Given the description of an element on the screen output the (x, y) to click on. 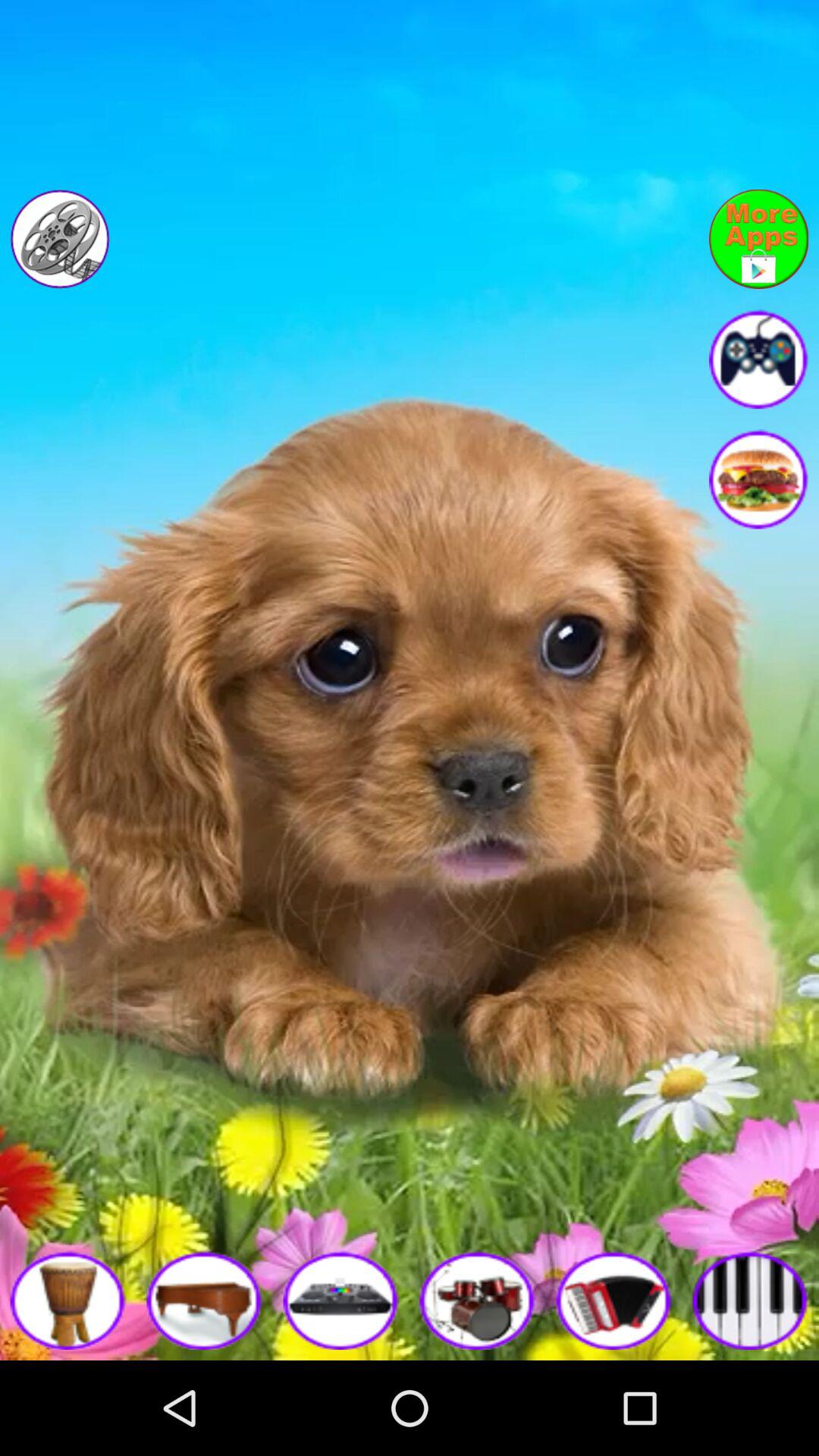
link to more of developer 's apps (758, 238)
